Given the description of an element on the screen output the (x, y) to click on. 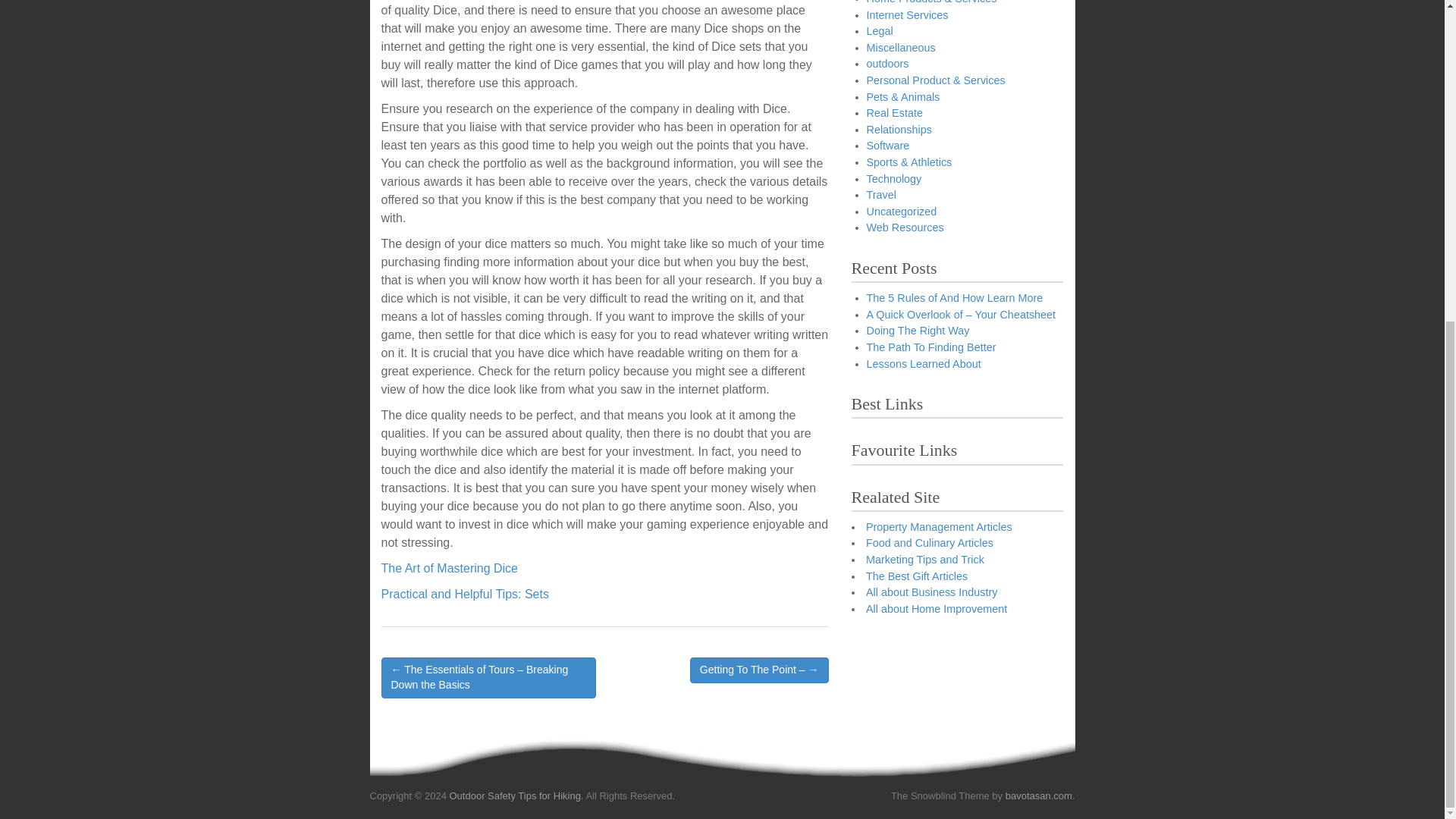
Internet Services (906, 14)
outdoors (887, 63)
Software (887, 145)
Miscellaneous (900, 47)
The Art of Mastering Dice (449, 567)
Uncategorized (901, 211)
Legal (879, 30)
Travel (880, 194)
Technology (893, 178)
Real Estate (893, 112)
Practical and Helpful Tips: Sets (464, 594)
Relationships (898, 129)
